Given the description of an element on the screen output the (x, y) to click on. 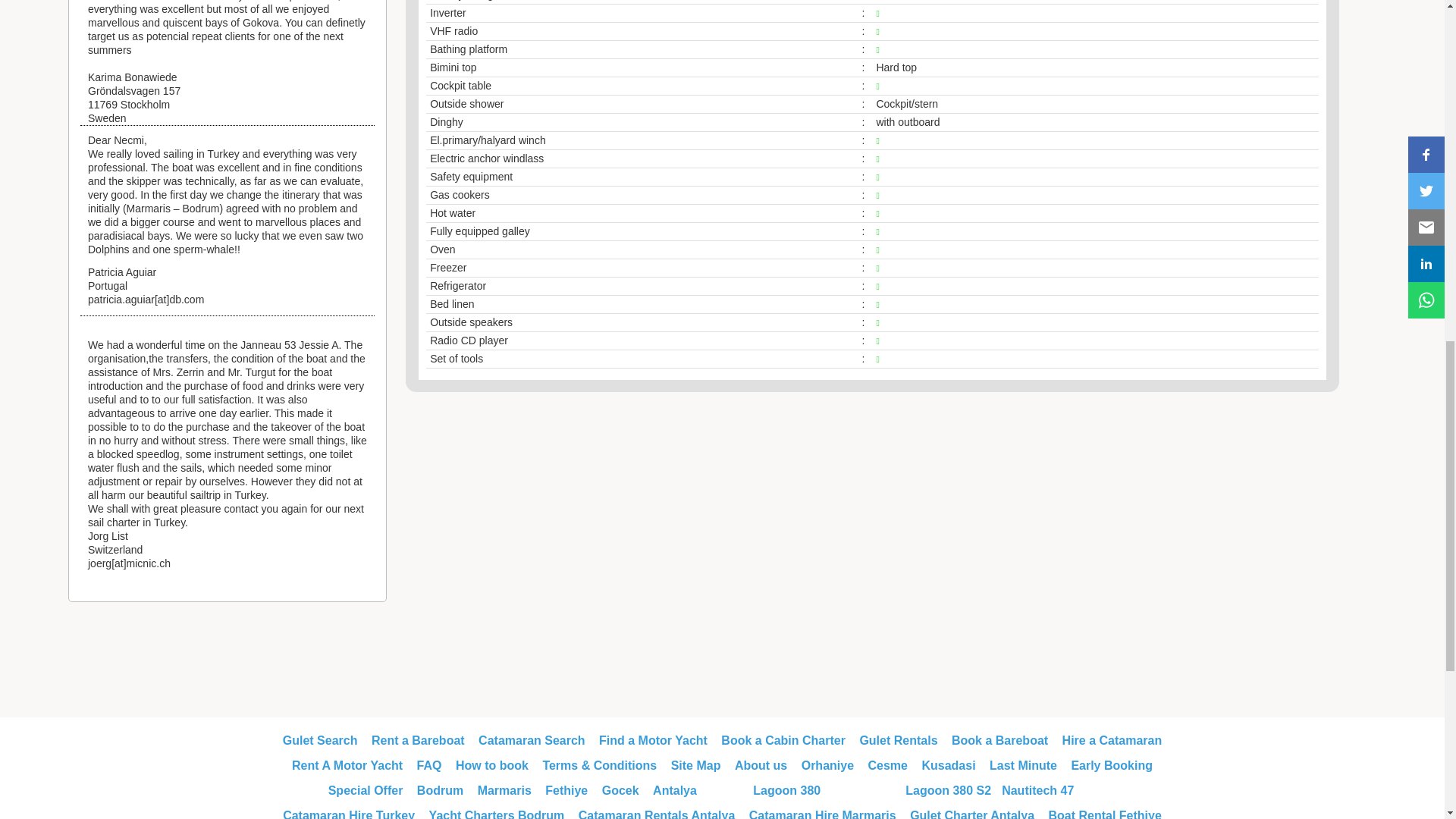
Catamaran Search (532, 739)
Gulet Rentals (898, 739)
Rent a Bareboat (417, 739)
Last Minute (1023, 765)
FAQ (429, 765)
Gulet Search (320, 739)
Kusadasi (948, 765)
Book a Bareboat (1000, 739)
How to book (491, 765)
Find a Motor Yacht (652, 739)
Bodrum (439, 789)
Orhaniye (827, 765)
Book a Cabin Charter (782, 739)
Hire a Catamaran (1111, 739)
Special Offer (366, 789)
